Given the description of an element on the screen output the (x, y) to click on. 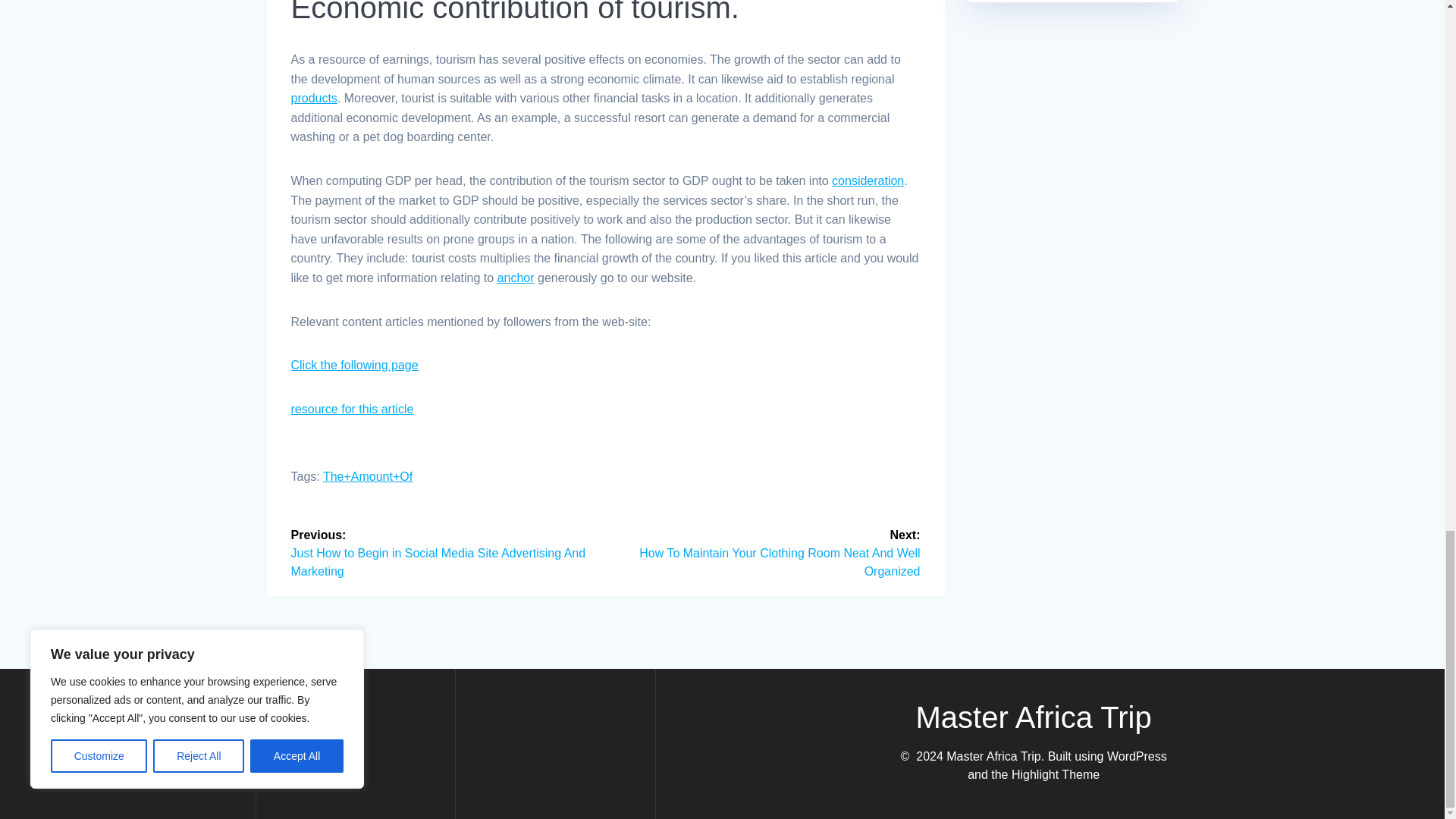
Click the following page (355, 364)
products (314, 97)
consideration (867, 180)
anchor (515, 277)
resource for this article (352, 408)
